Given the description of an element on the screen output the (x, y) to click on. 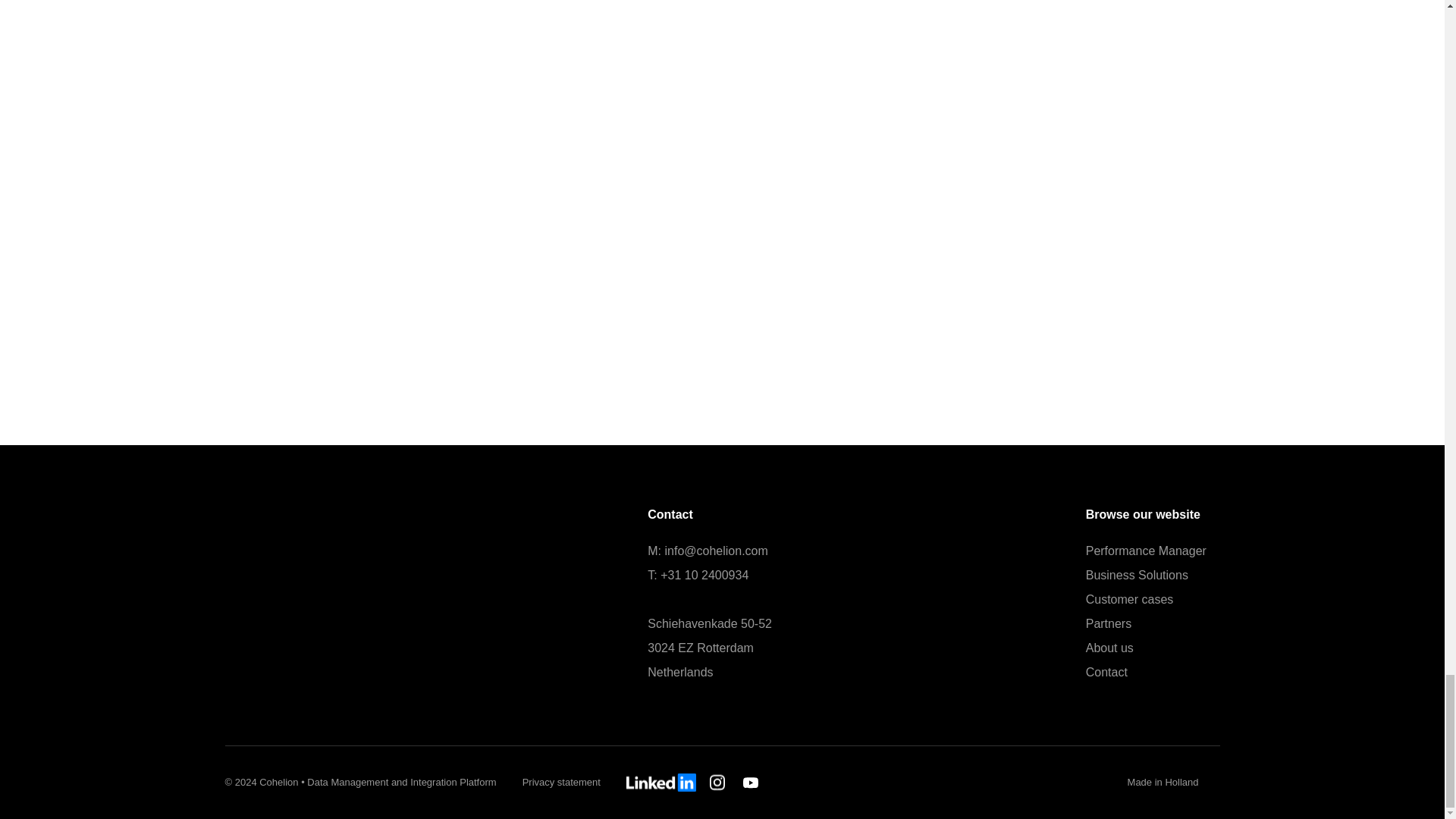
Performance Manager (1146, 550)
Partners (1108, 623)
Business Solutions (1137, 574)
Customer cases (1129, 599)
